Given the description of an element on the screen output the (x, y) to click on. 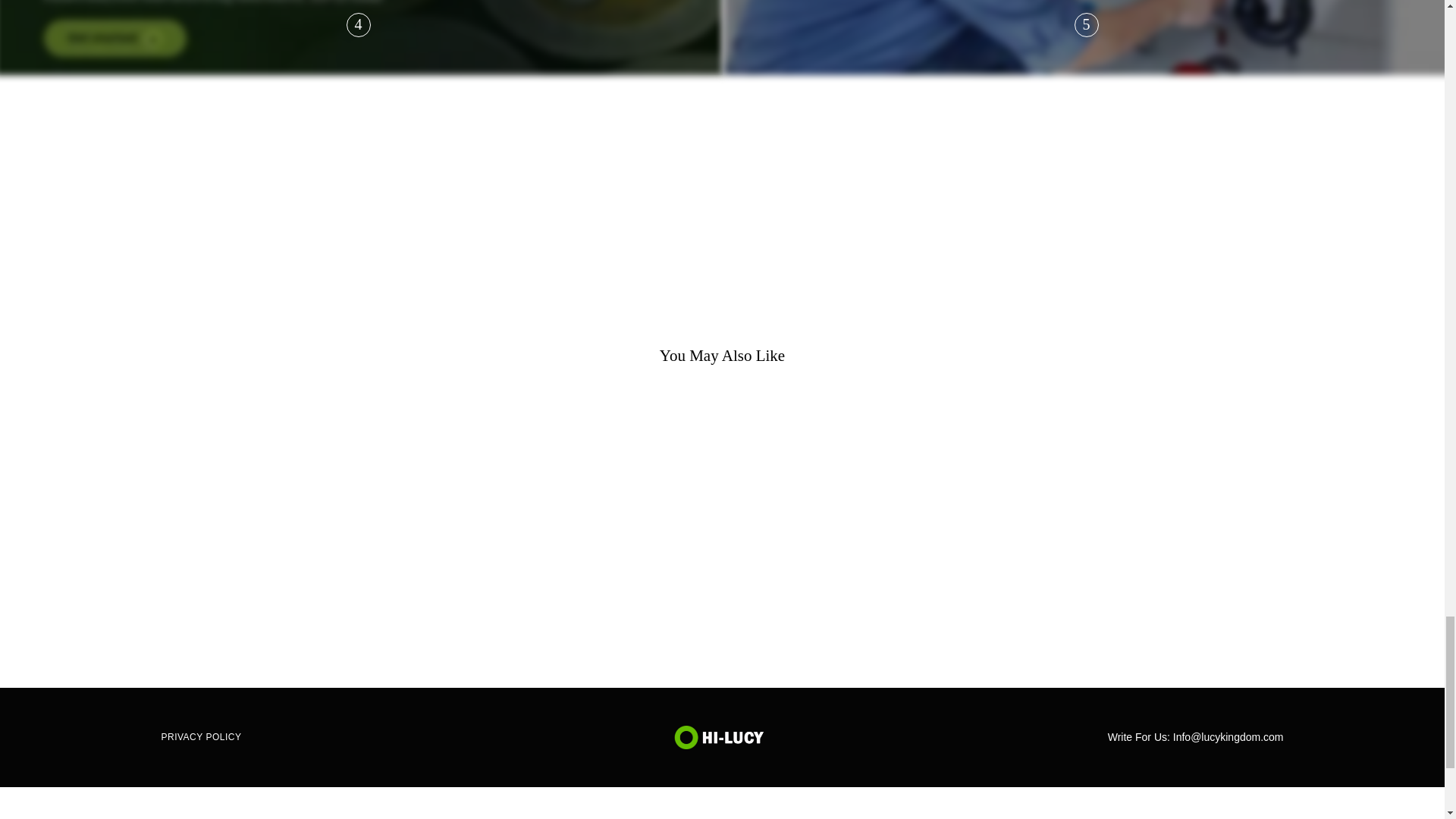
PRIVACY POLICY (205, 737)
